Given the description of an element on the screen output the (x, y) to click on. 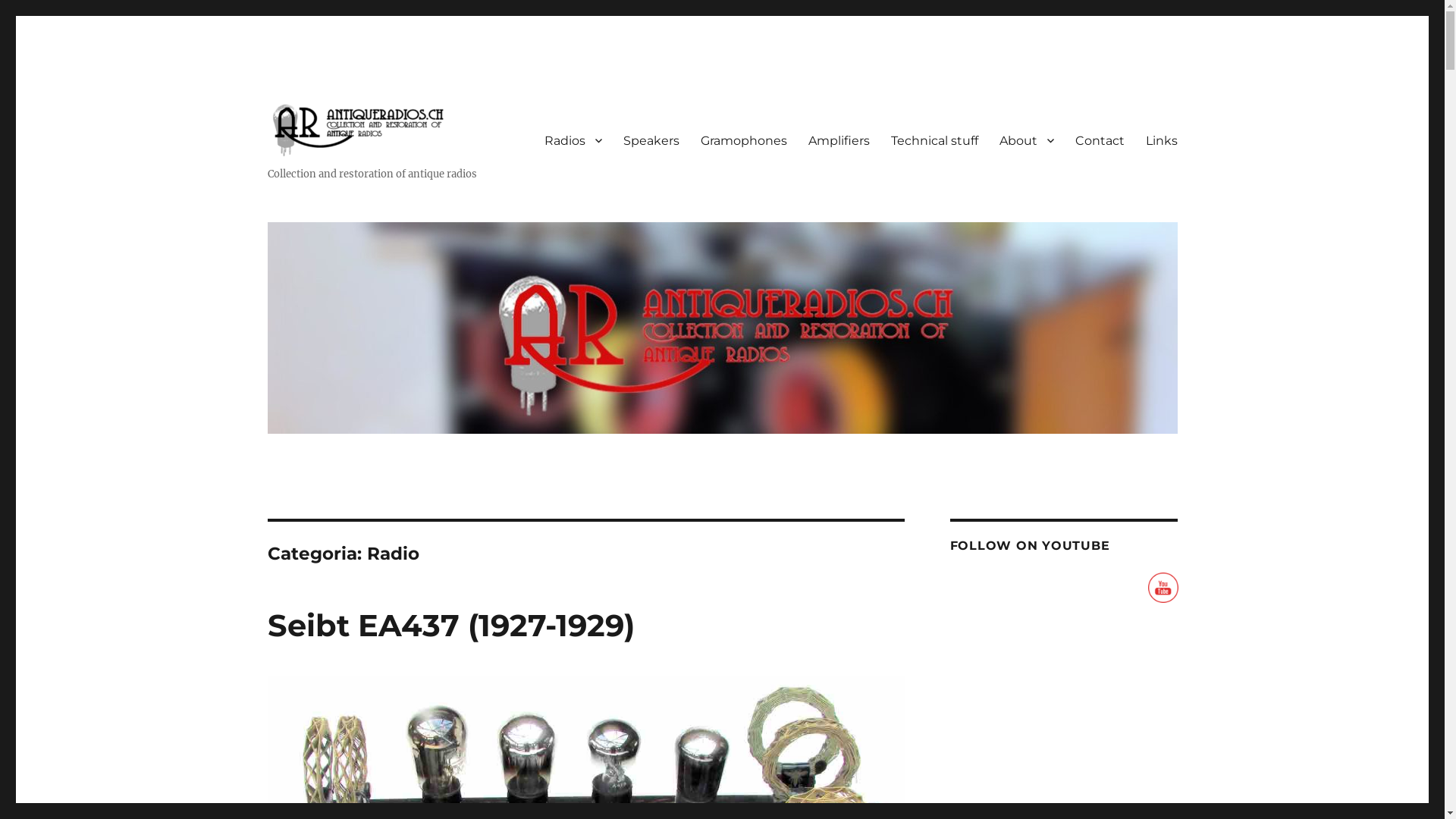
Radios Element type: text (572, 140)
Seibt EA437 (1927-1929) Element type: text (449, 624)
Contact Element type: text (1099, 140)
Speakers Element type: text (651, 140)
Technical stuff Element type: text (933, 140)
Amplifiers Element type: text (838, 140)
Gramophones Element type: text (743, 140)
YouTube Element type: hover (1163, 587)
About Element type: text (1026, 140)
Links Element type: text (1160, 140)
